Given the description of an element on the screen output the (x, y) to click on. 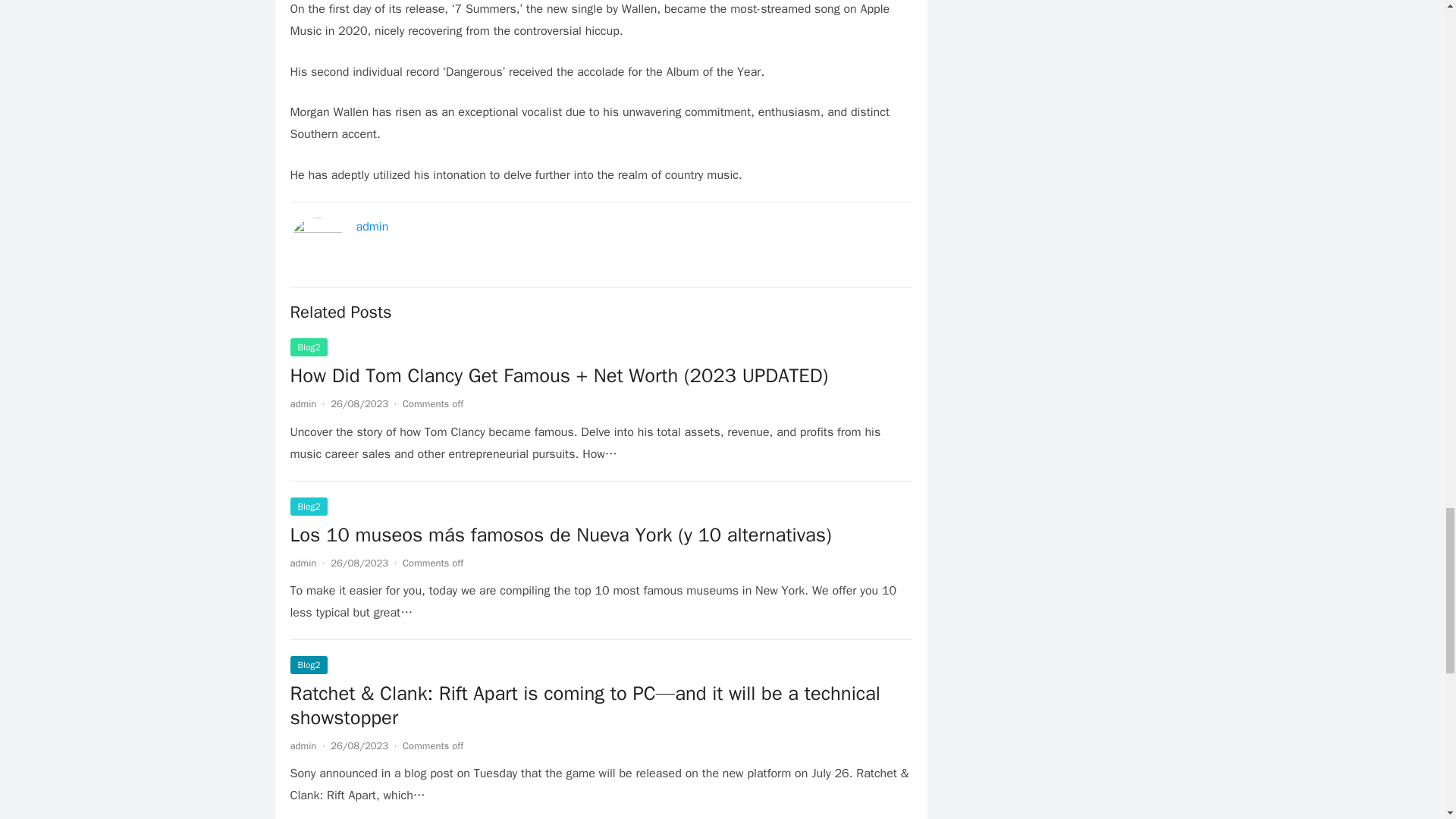
admin (302, 562)
Posts by admin (302, 403)
Posts by admin (302, 745)
Posts by admin (302, 562)
Blog2 (308, 665)
admin (302, 403)
Blog2 (308, 506)
admin (302, 745)
admin (372, 226)
Blog2 (308, 347)
